Given the description of an element on the screen output the (x, y) to click on. 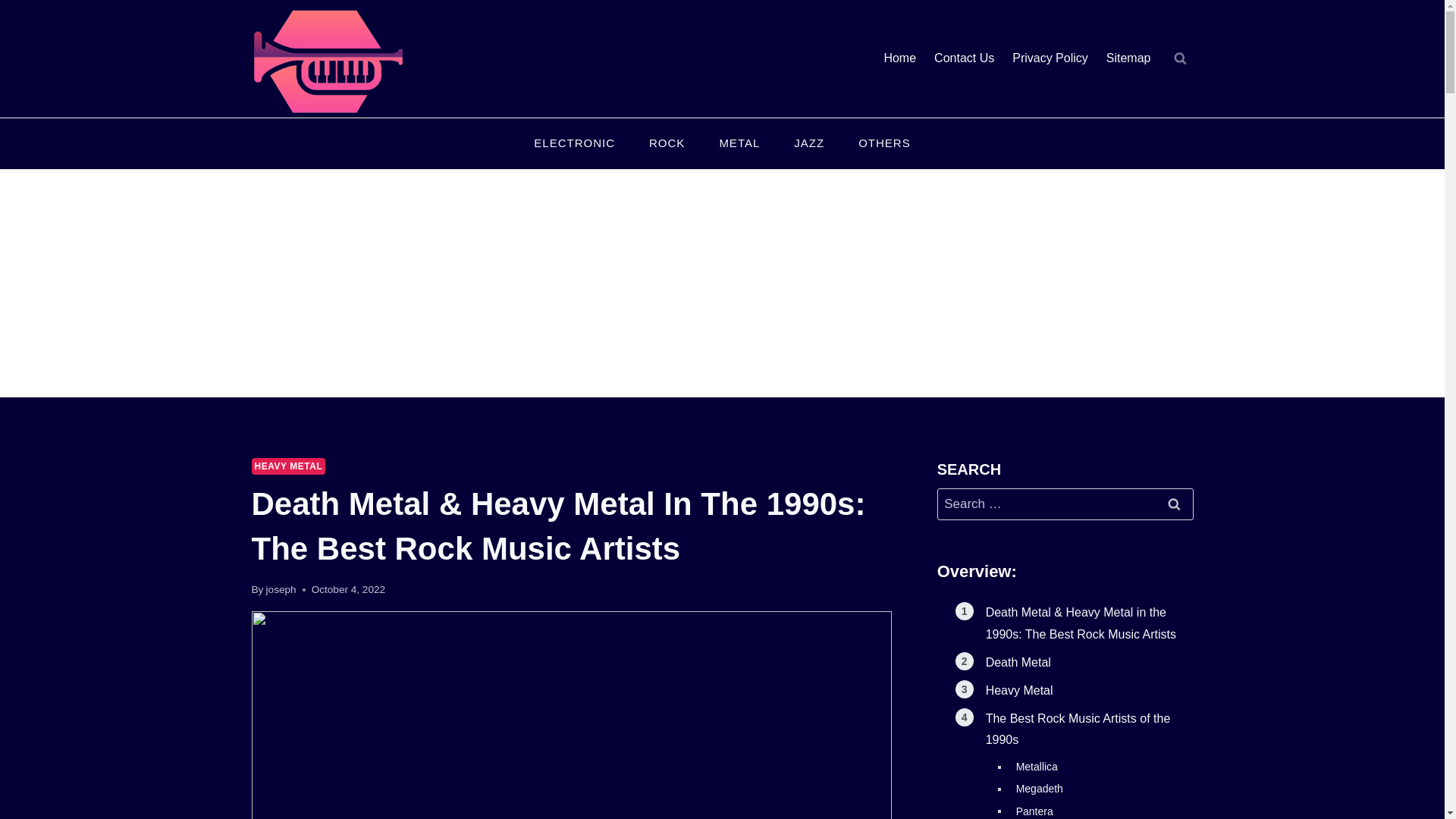
METAL (739, 143)
ELECTRONIC (573, 143)
Sitemap (1128, 58)
HEAVY METAL (288, 466)
Search (1174, 504)
Home (899, 58)
joseph (281, 589)
Search (1174, 504)
Contact Us (963, 58)
OTHERS (884, 143)
